Given the description of an element on the screen output the (x, y) to click on. 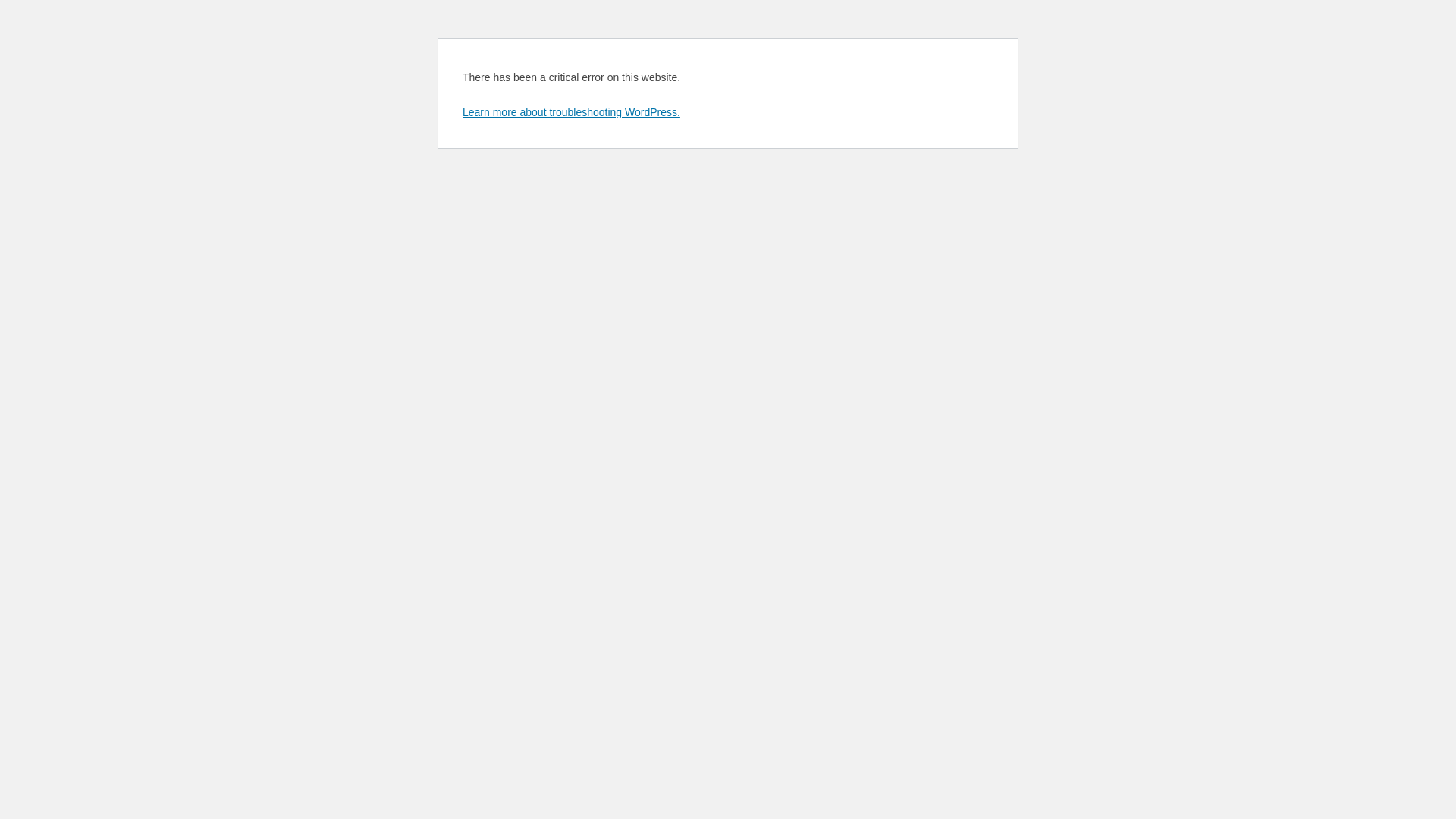
Learn more about troubleshooting WordPress. Element type: text (571, 112)
